Given the description of an element on the screen output the (x, y) to click on. 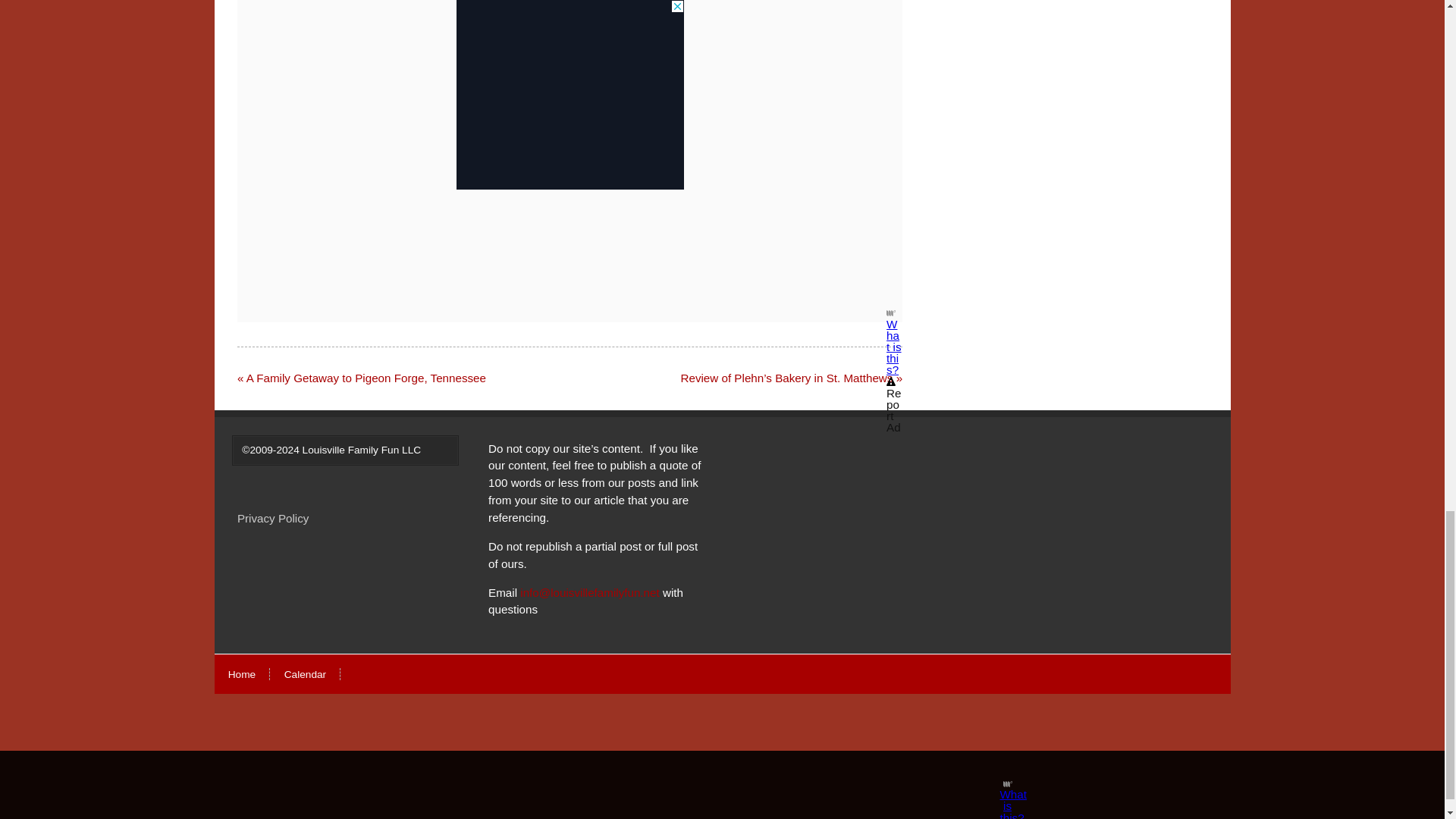
3rd party ad content (570, 89)
